Given the description of an element on the screen output the (x, y) to click on. 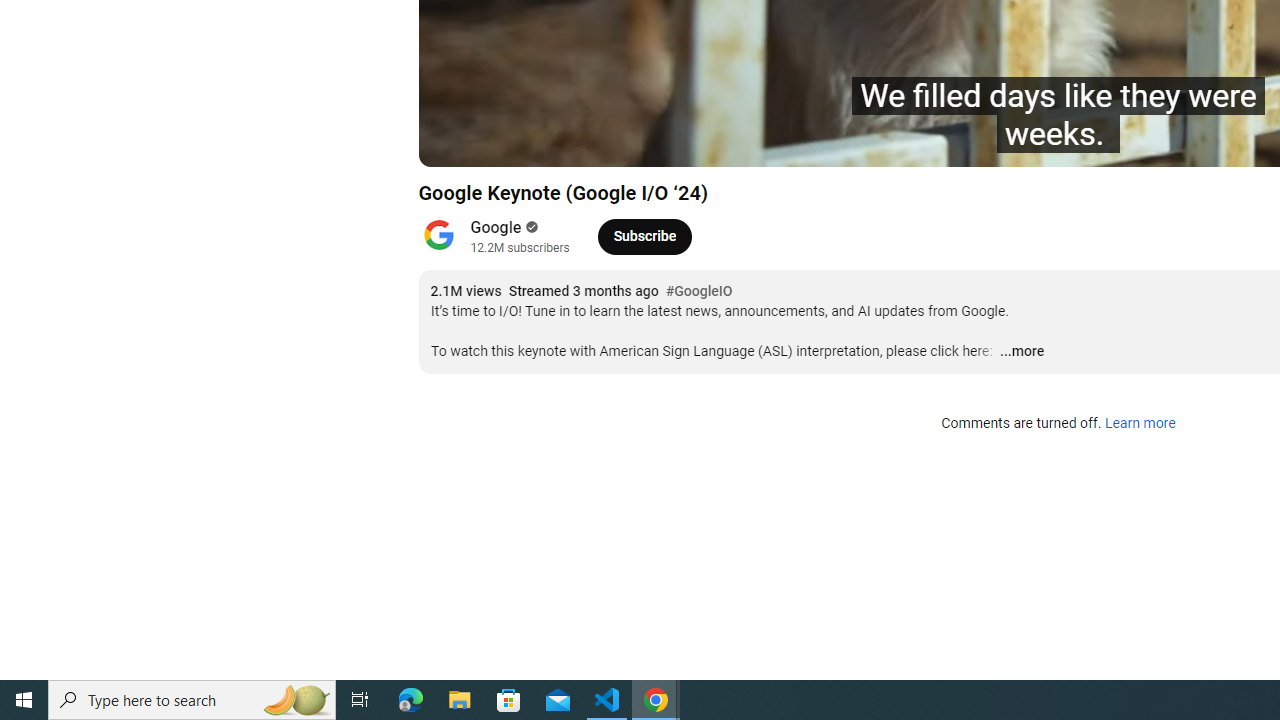
...more (1021, 352)
Verified (530, 227)
Opening Film (717, 142)
Next (SHIFT+n) (500, 142)
Subscribe to Google. (644, 236)
Pause (k) (453, 142)
#GoogleIO (699, 291)
Learn more (1139, 423)
Mute (m) (548, 142)
